Given the description of an element on the screen output the (x, y) to click on. 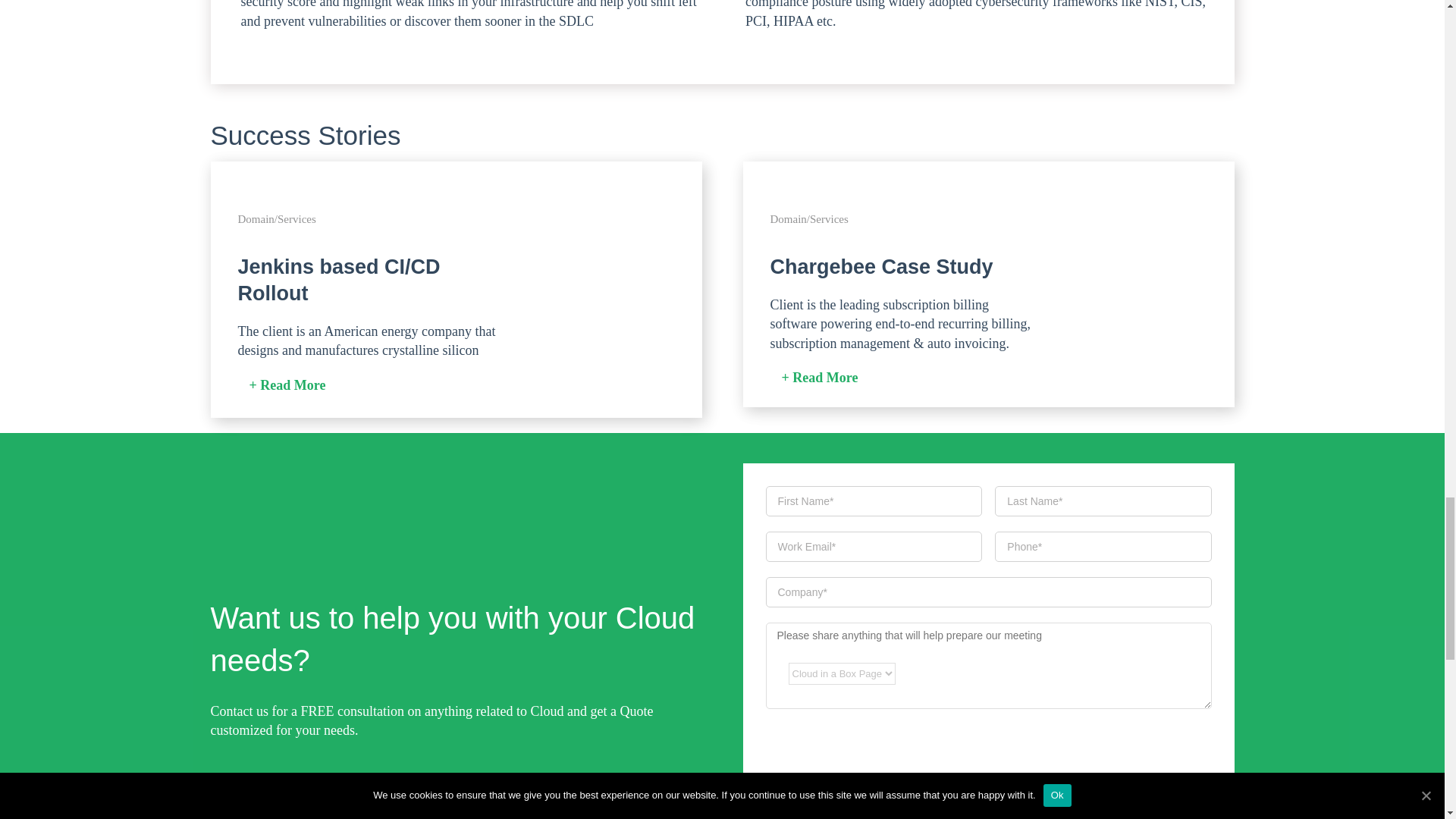
reCAPTCHA (880, 764)
Chargebee Case Study (881, 266)
